Given the description of an element on the screen output the (x, y) to click on. 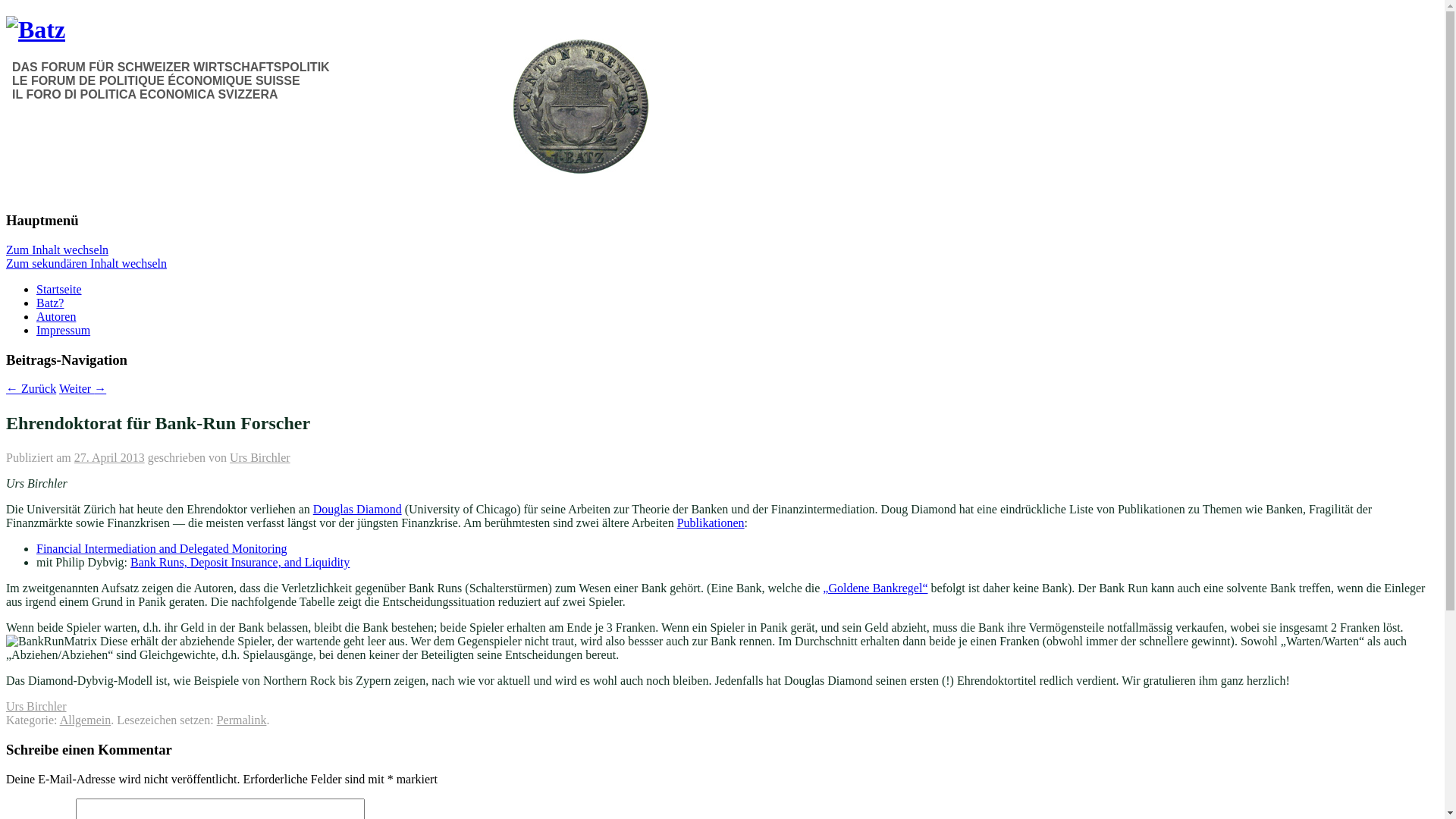
Douglas Diamond Element type: text (357, 508)
Batz? Element type: text (49, 302)
Startseite Element type: text (58, 288)
Autoren Element type: text (55, 316)
Urs Birchler Element type: text (259, 457)
27. April 2013 Element type: text (109, 457)
Publikationen Element type: text (710, 522)
Bank Runs, Deposit Insurance, and Liquidity Element type: text (239, 561)
Allgemein Element type: text (85, 719)
Permalink Element type: text (241, 719)
Financial Intermediation and Delegated Monitoring Element type: text (161, 548)
Urs Birchler Element type: text (36, 705)
Batz Element type: hover (35, 29)
Impressum Element type: text (63, 329)
Zum Inhalt wechseln Element type: text (57, 249)
